Given the description of an element on the screen output the (x, y) to click on. 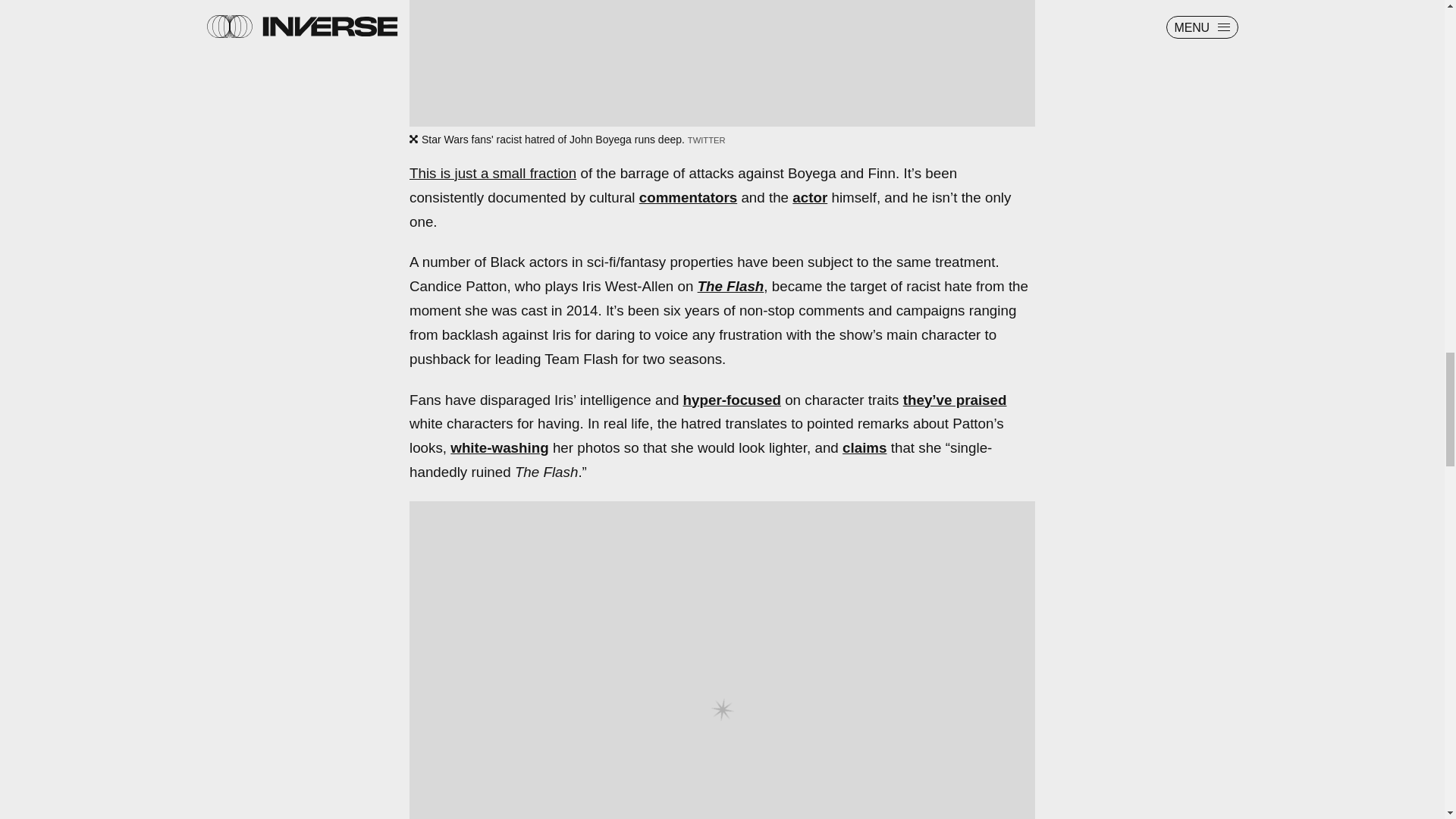
white-washing (498, 447)
The Flash (730, 286)
hyper-focused (731, 399)
commentators (687, 197)
actor (809, 197)
claims (864, 447)
